Given the description of an element on the screen output the (x, y) to click on. 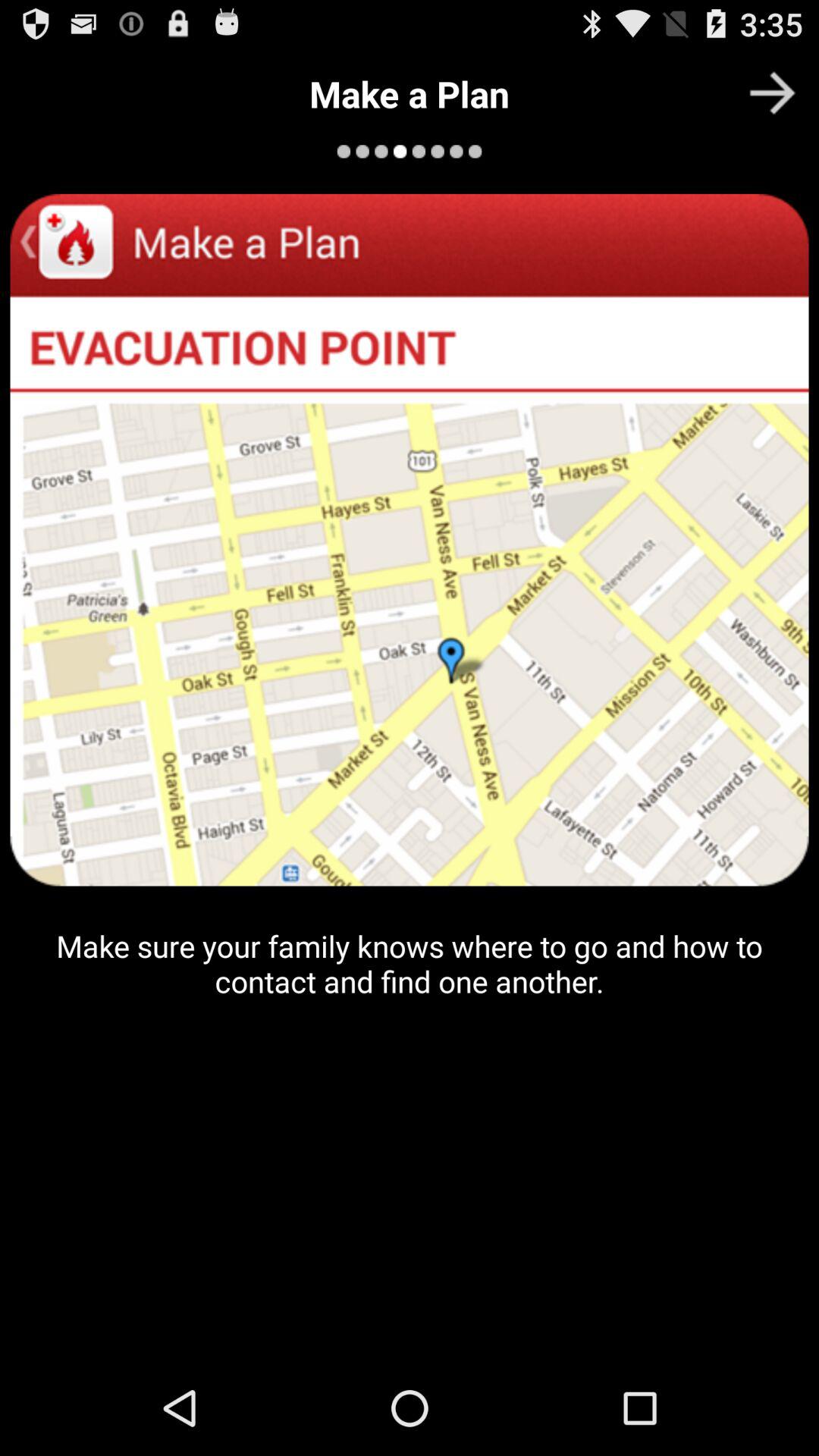
next (772, 92)
